Given the description of an element on the screen output the (x, y) to click on. 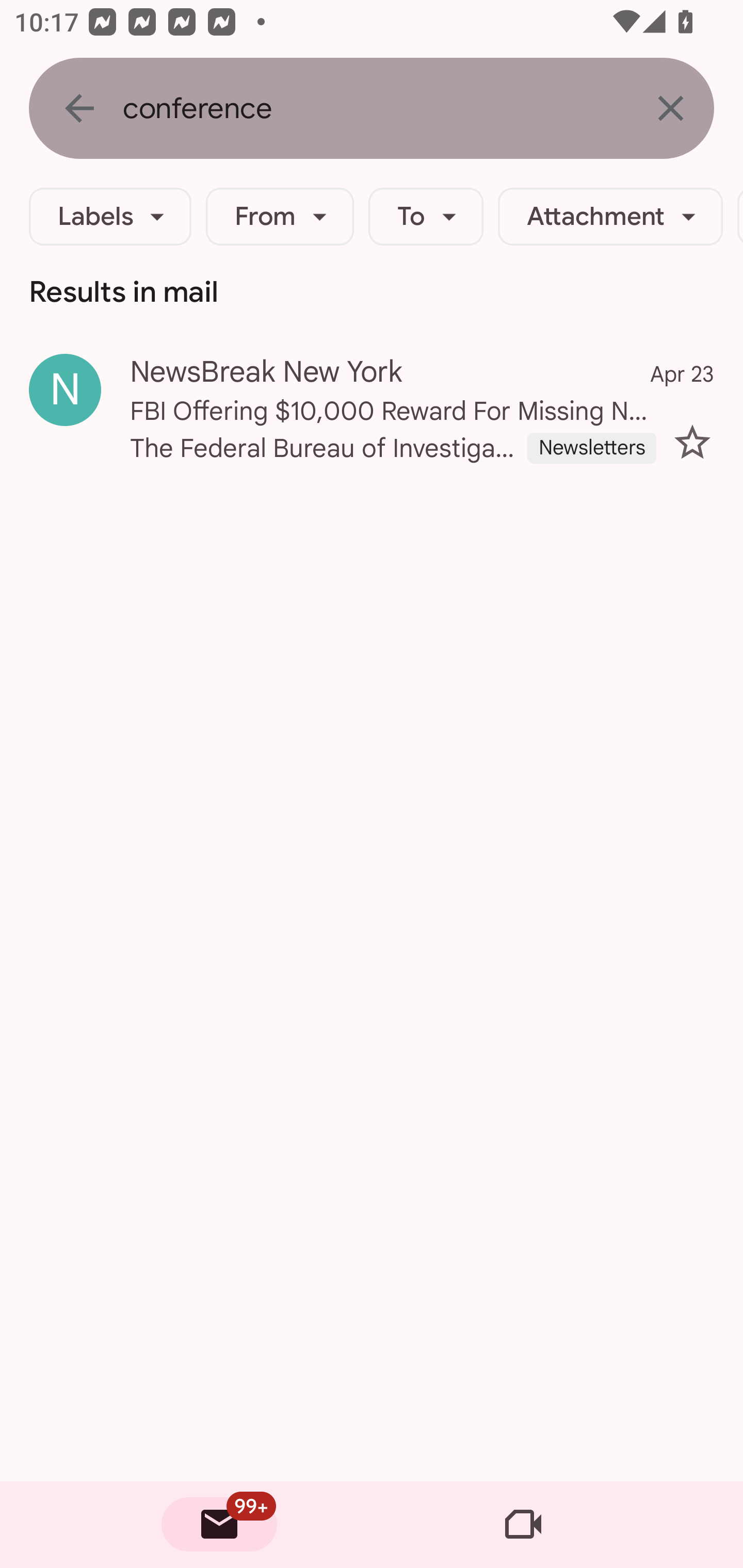
Navigate up (79, 108)
Clear search text (670, 108)
Labels (109, 217)
From (279, 217)
To (425, 217)
Attachment (609, 217)
Meet (523, 1524)
